Given the description of an element on the screen output the (x, y) to click on. 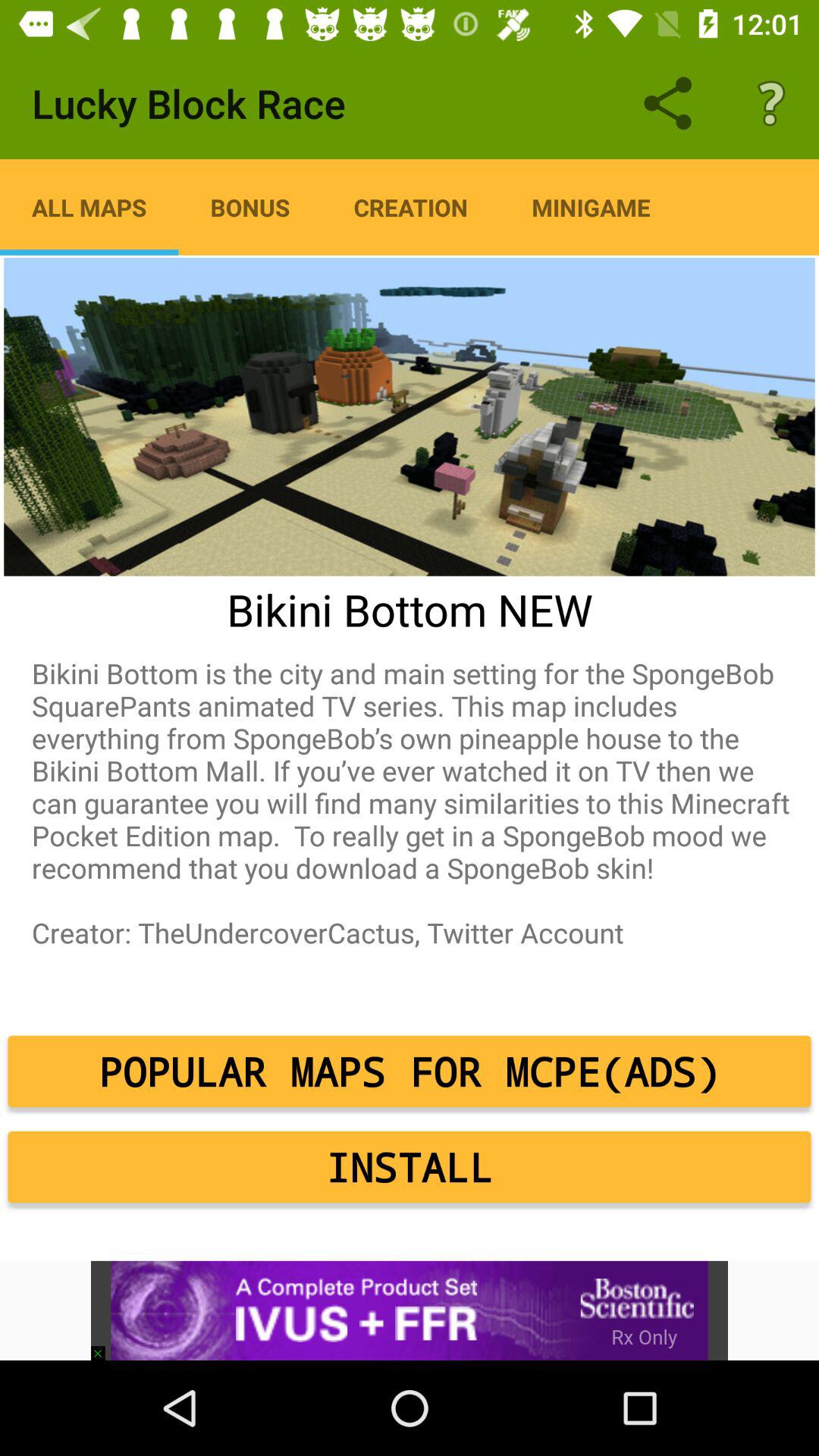
an advertisement (409, 1310)
